Given the description of an element on the screen output the (x, y) to click on. 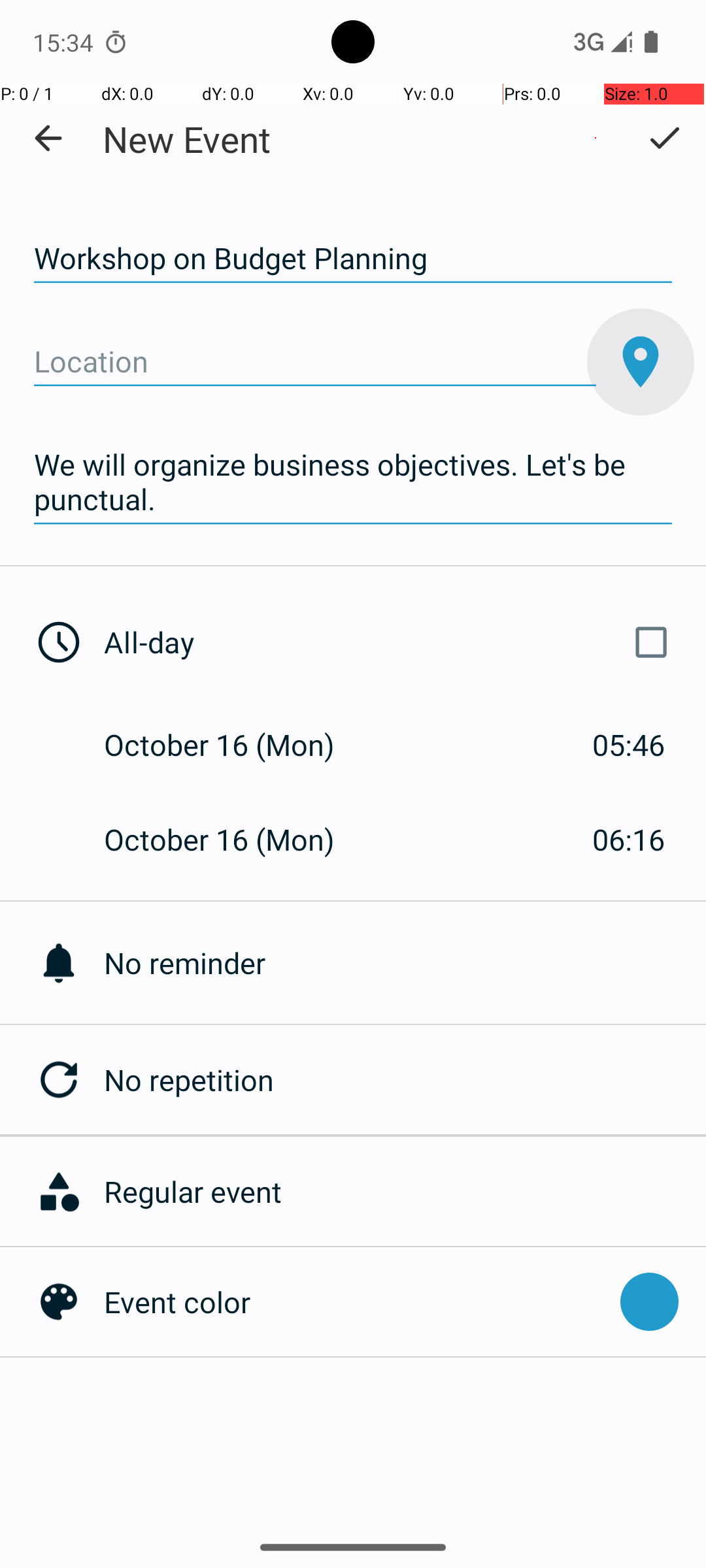
We will organize business objectives. Let's be punctual. Element type: android.widget.EditText (352, 482)
05:46 Element type: android.widget.TextView (628, 744)
06:16 Element type: android.widget.TextView (628, 838)
